Given the description of an element on the screen output the (x, y) to click on. 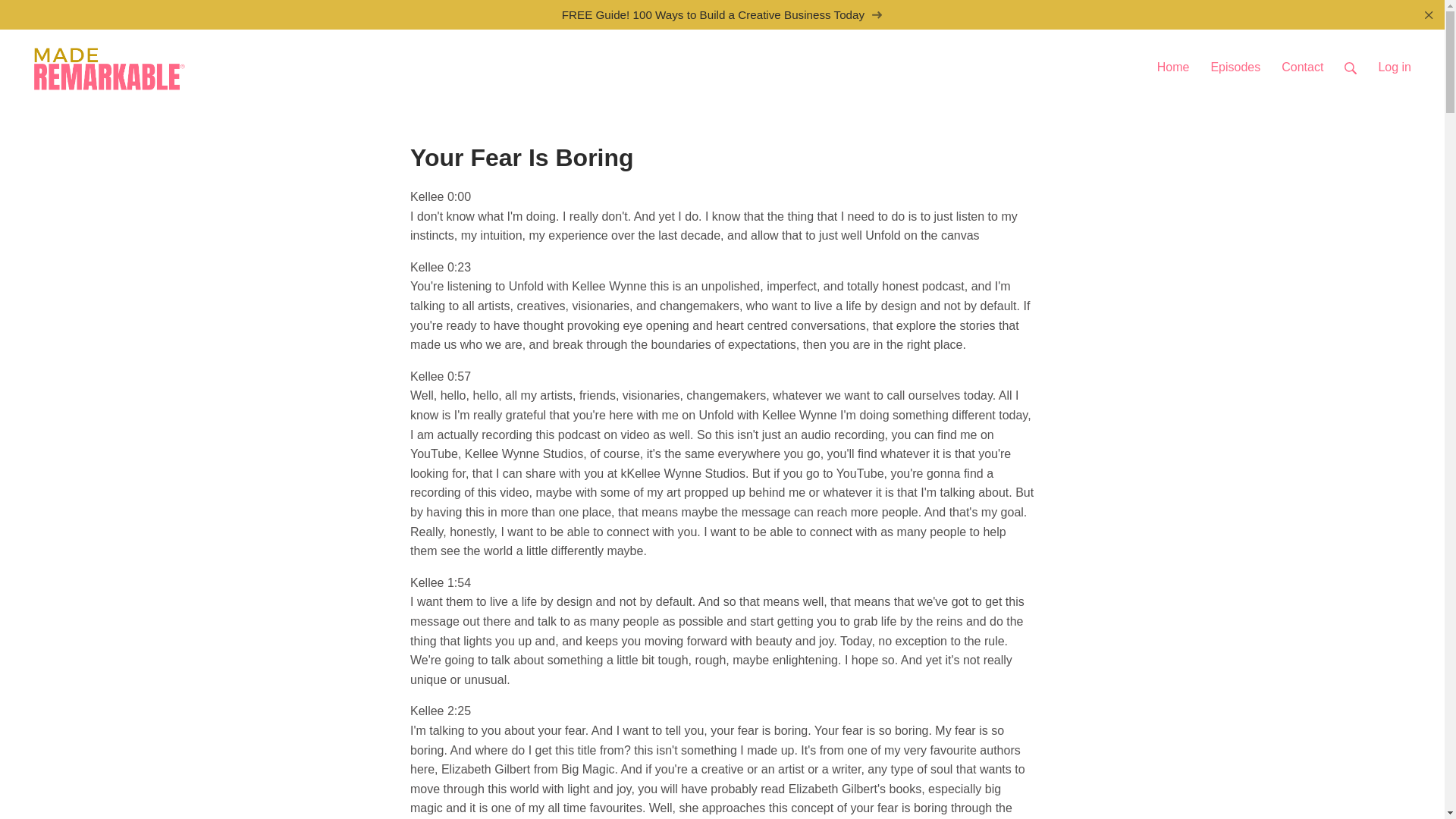
Episodes (1235, 60)
Contact (1302, 60)
